Given the description of an element on the screen output the (x, y) to click on. 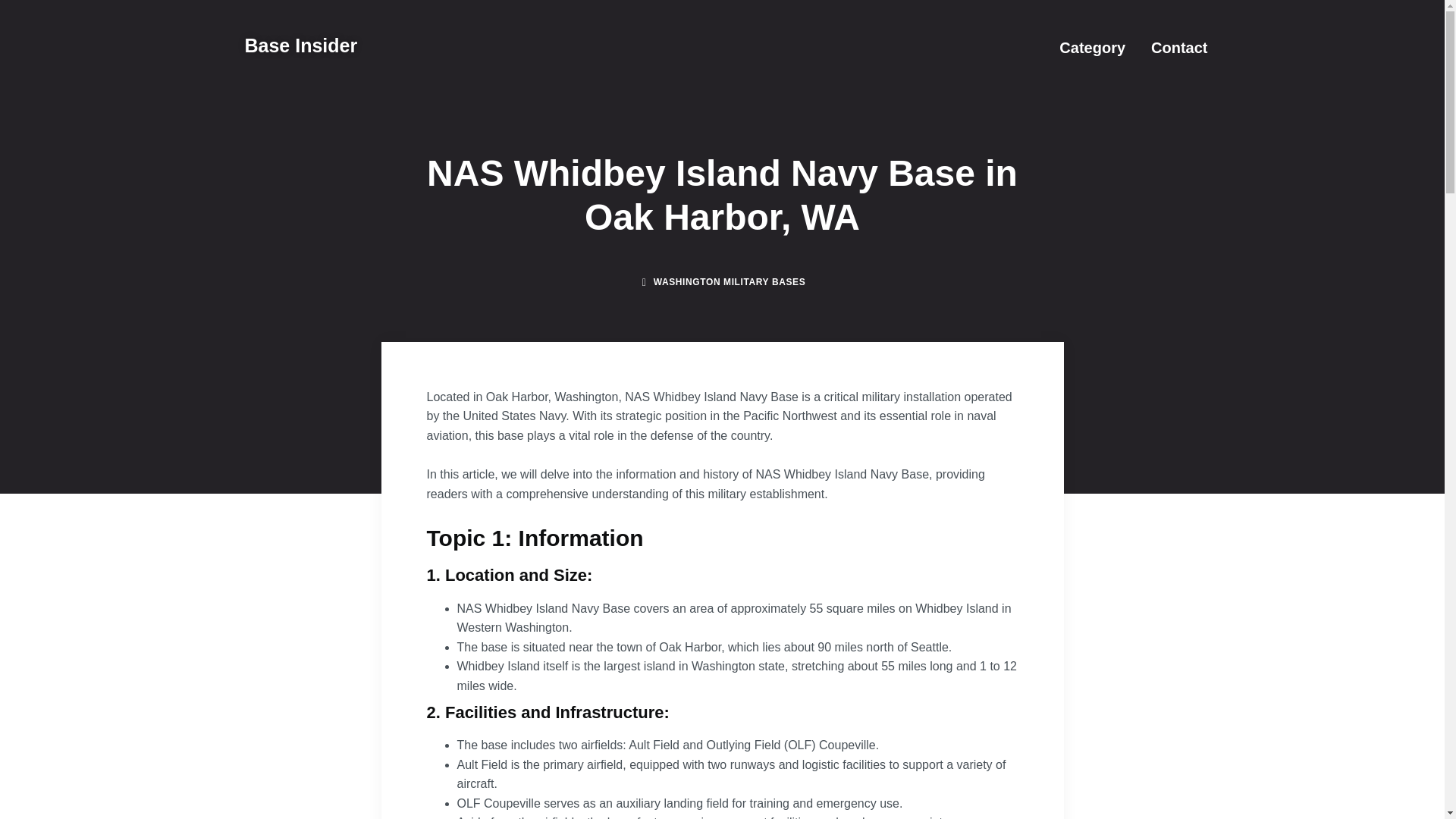
Contact (1179, 47)
Base Insider (300, 45)
Category (1092, 47)
WASHINGTON MILITARY BASES (729, 281)
